Given the description of an element on the screen output the (x, y) to click on. 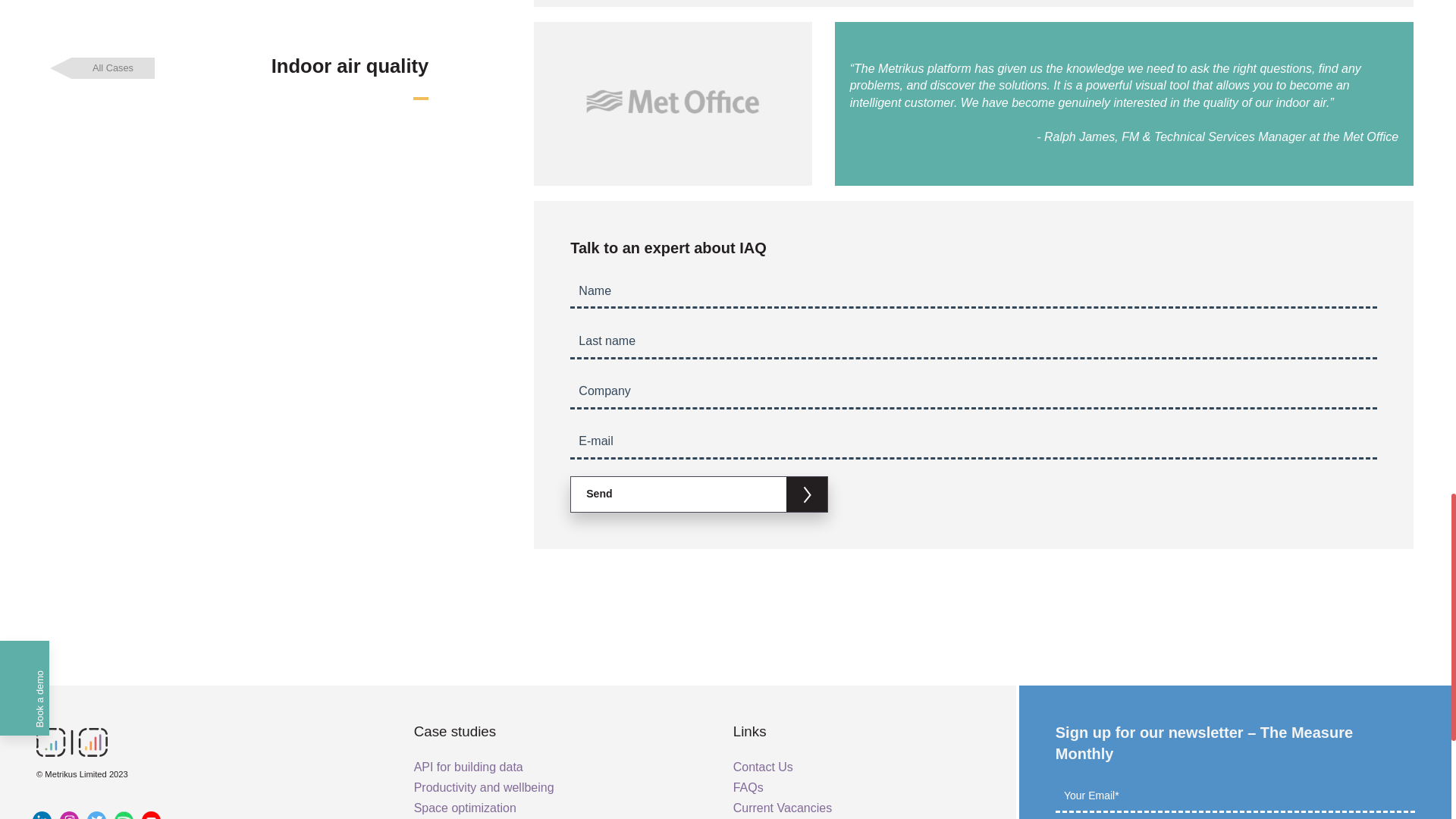
Productivity and wellbeing (483, 787)
Contact Us (763, 766)
Space optimization (464, 807)
Send (699, 493)
API for building data (467, 766)
Send (699, 493)
